Given the description of an element on the screen output the (x, y) to click on. 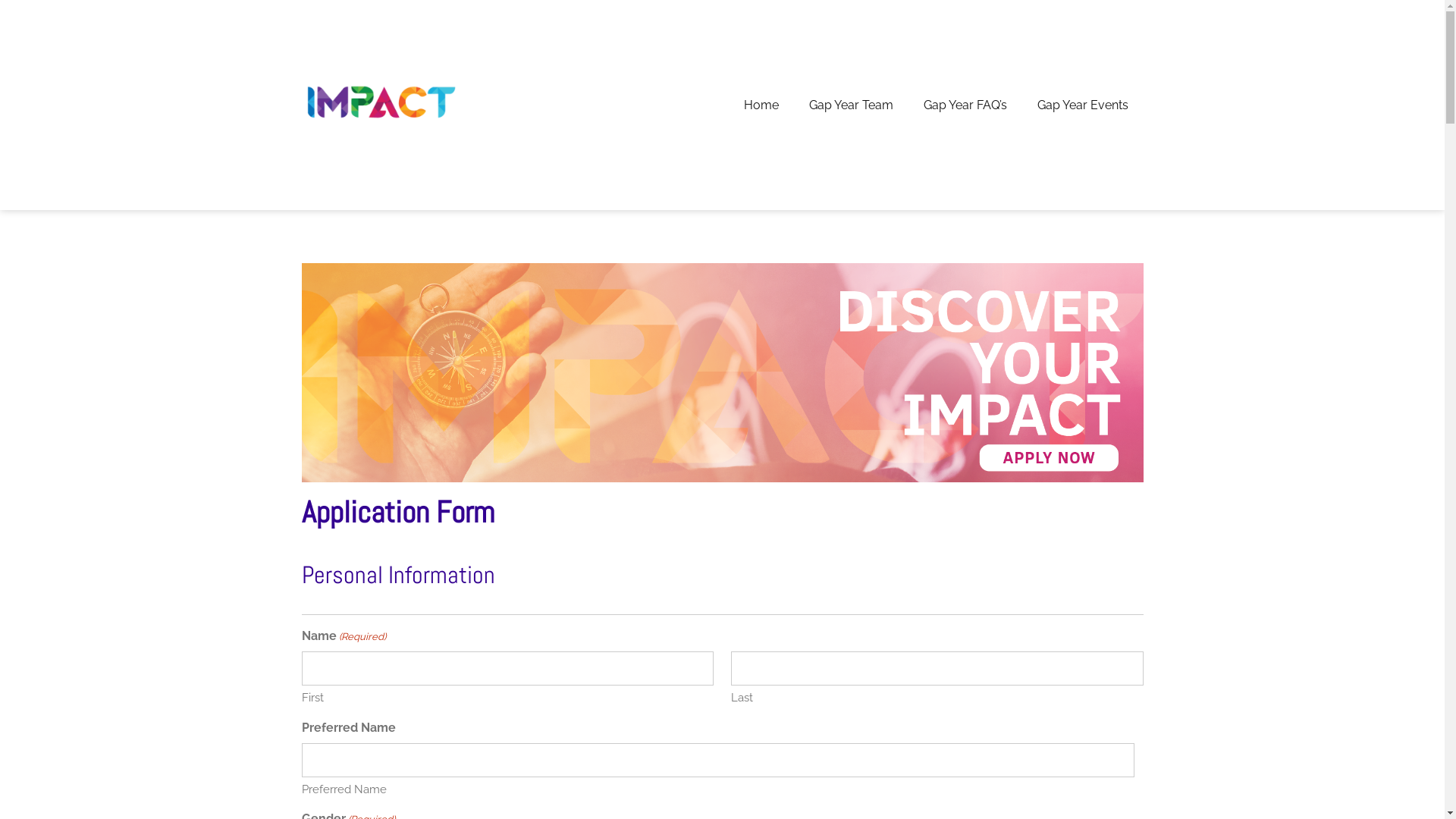
Gap Year Events Element type: text (1082, 104)
Home Element type: text (760, 104)
Gap Year Team Element type: text (850, 104)
